Given the description of an element on the screen output the (x, y) to click on. 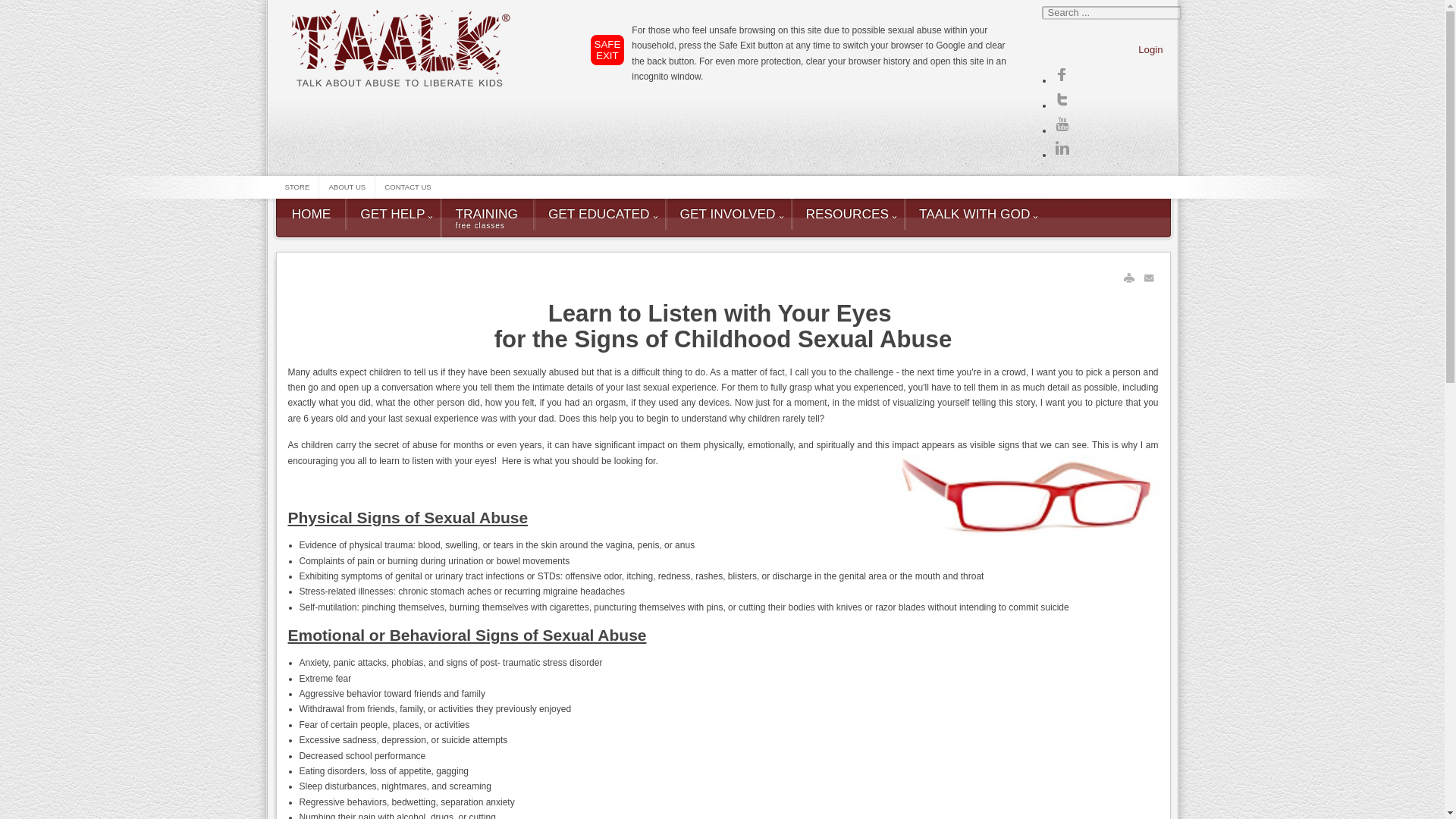
linkedin.png (485, 218)
Email this link to a friend (1061, 148)
twitter.png (1149, 277)
GET INVOLVED (1061, 99)
ABOUT US (727, 214)
GET HELP (346, 187)
GET EDUCATED (392, 214)
STORE (598, 214)
CONTACT US (297, 187)
HOME (407, 187)
RESOURCES (311, 214)
youtube.png (847, 214)
Login (1061, 124)
facebook.png (1150, 49)
